Given the description of an element on the screen output the (x, y) to click on. 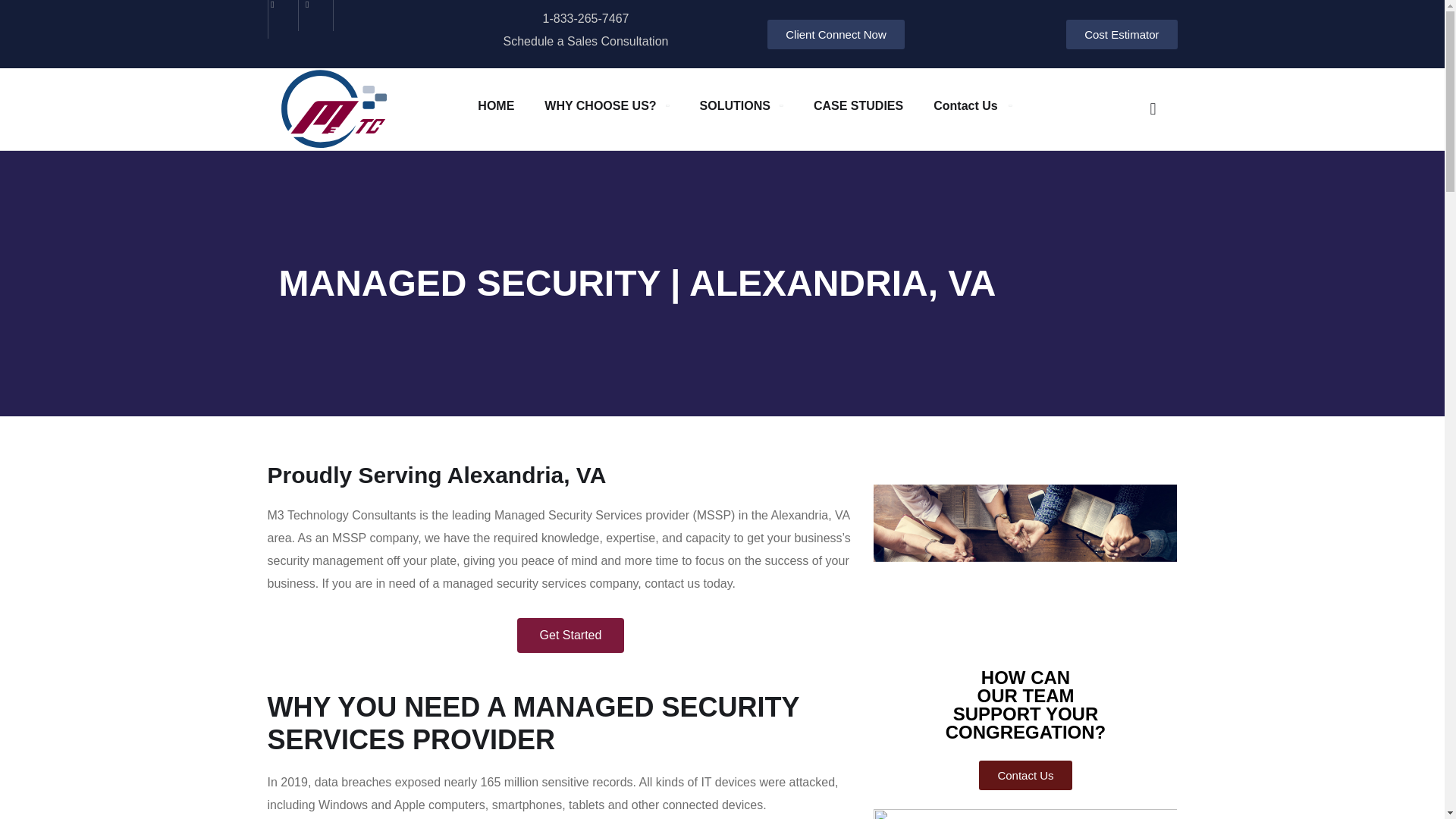
SOLUTIONS (741, 105)
1-833-265-7467 (585, 18)
Cost Estimator (1120, 34)
Schedule a Sales Consultation (585, 41)
Contact Us (971, 105)
WHY CHOOSE US? (606, 105)
Client Connect Now (835, 34)
Contact Us (1024, 775)
Get Started (570, 635)
CASE STUDIES (857, 105)
